Given the description of an element on the screen output the (x, y) to click on. 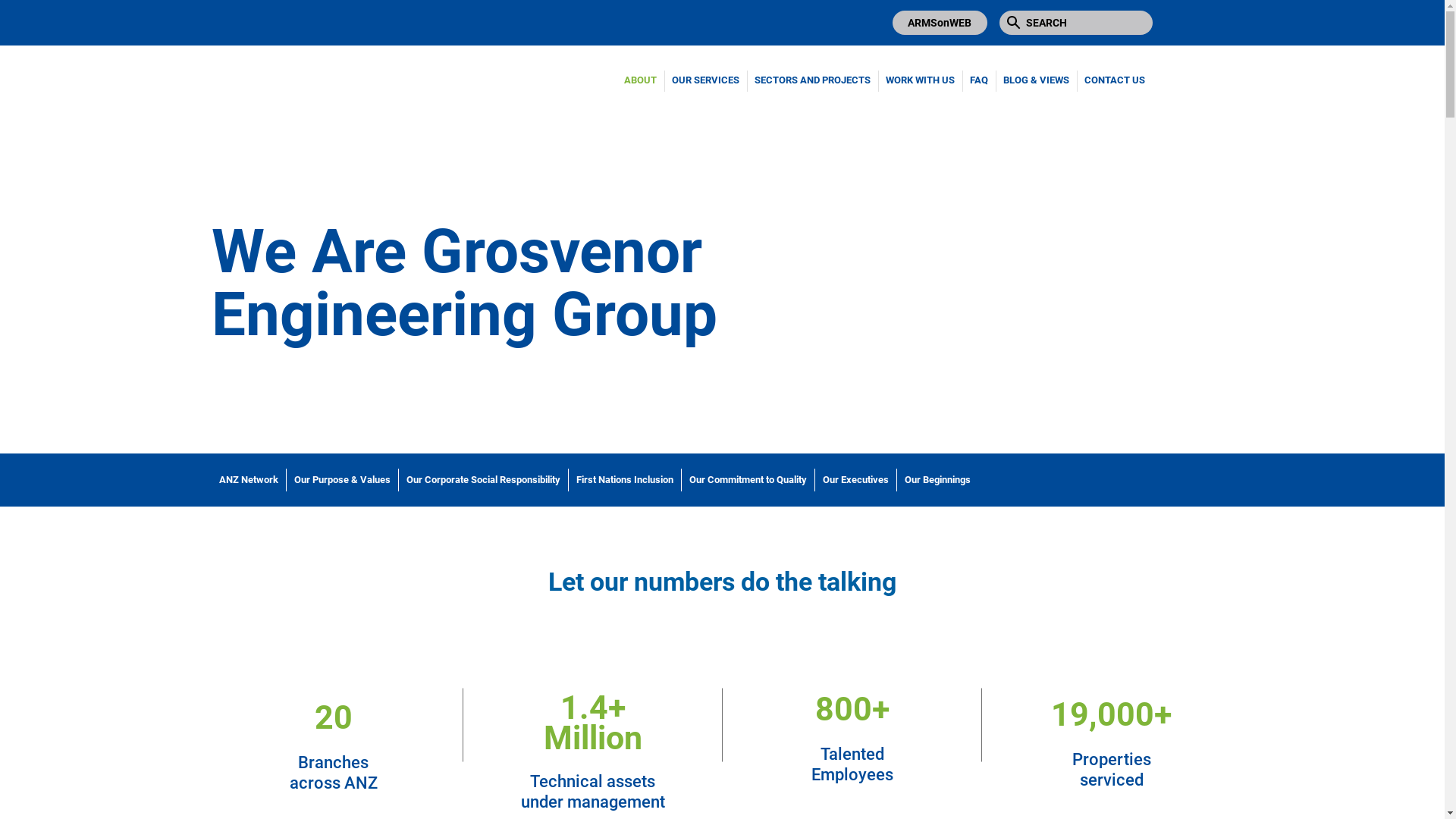
ARMSonWEB Element type: text (938, 22)
First Nations Inclusion Element type: text (624, 479)
ANZ Network Element type: text (247, 479)
Our Beginnings Element type: text (936, 479)
WORK WITH US Element type: text (919, 79)
BLOG & VIEWS Element type: text (1035, 79)
CONTACT US Element type: text (1114, 79)
Our Purpose & Values Element type: text (342, 479)
SECTORS AND PROJECTS Element type: text (811, 79)
Our Corporate Social Responsibility Element type: text (482, 479)
OUR SERVICES Element type: text (705, 79)
Our Executives Element type: text (854, 479)
FAQ Element type: text (978, 79)
Our Commitment to Quality Element type: text (746, 479)
Grosvenor Engineering Group Element type: text (370, 108)
ABOUT Element type: text (639, 79)
